Given the description of an element on the screen output the (x, y) to click on. 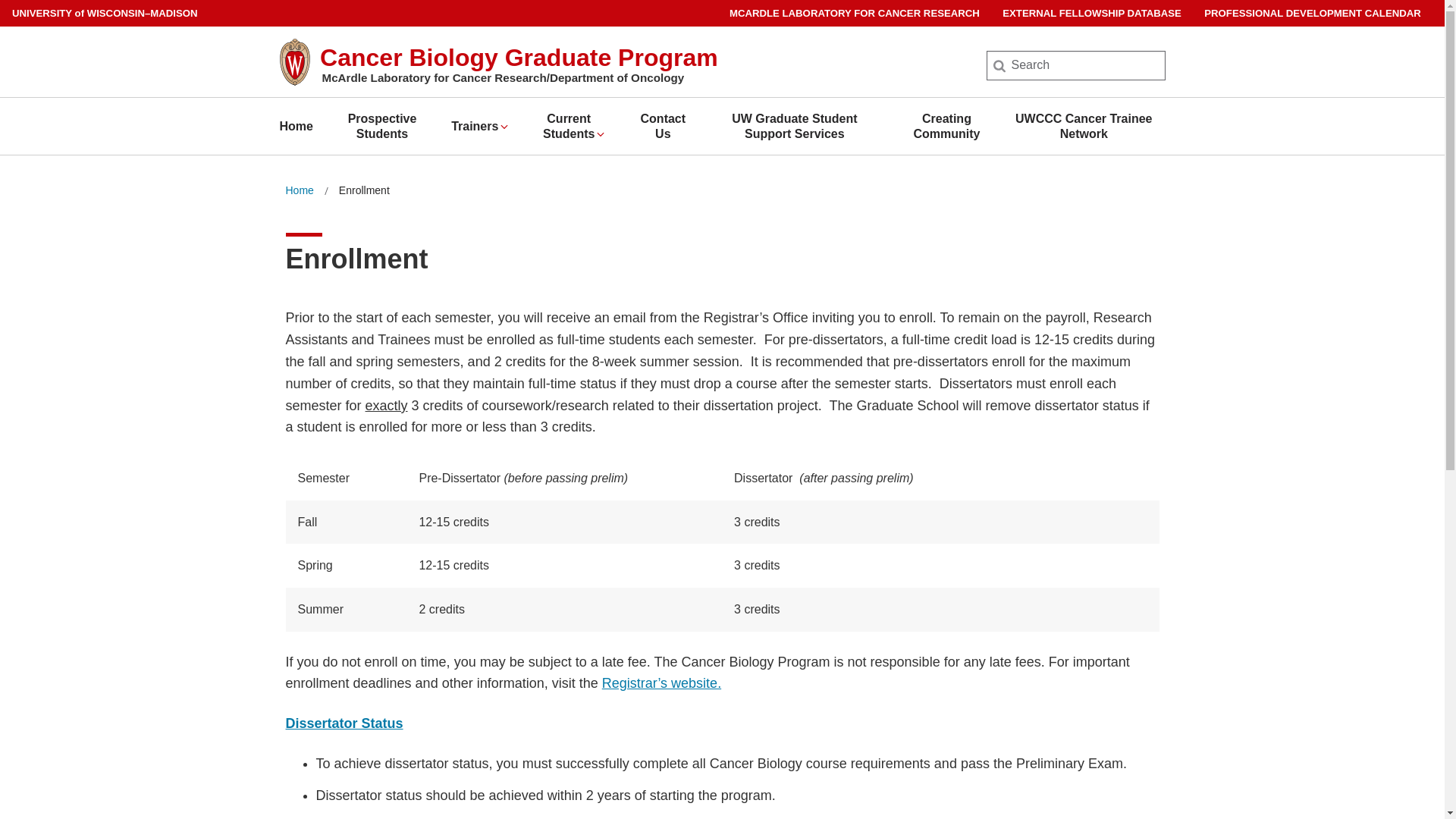
Enrollment (364, 190)
UWCCC Cancer Trainee Network (1083, 125)
Prospective Students (382, 125)
Home (299, 190)
Home (296, 126)
Contact Us (663, 125)
Enrollment (364, 190)
Cancer Biology Graduate Program (518, 57)
Expand (504, 126)
Expand (600, 133)
